Given the description of an element on the screen output the (x, y) to click on. 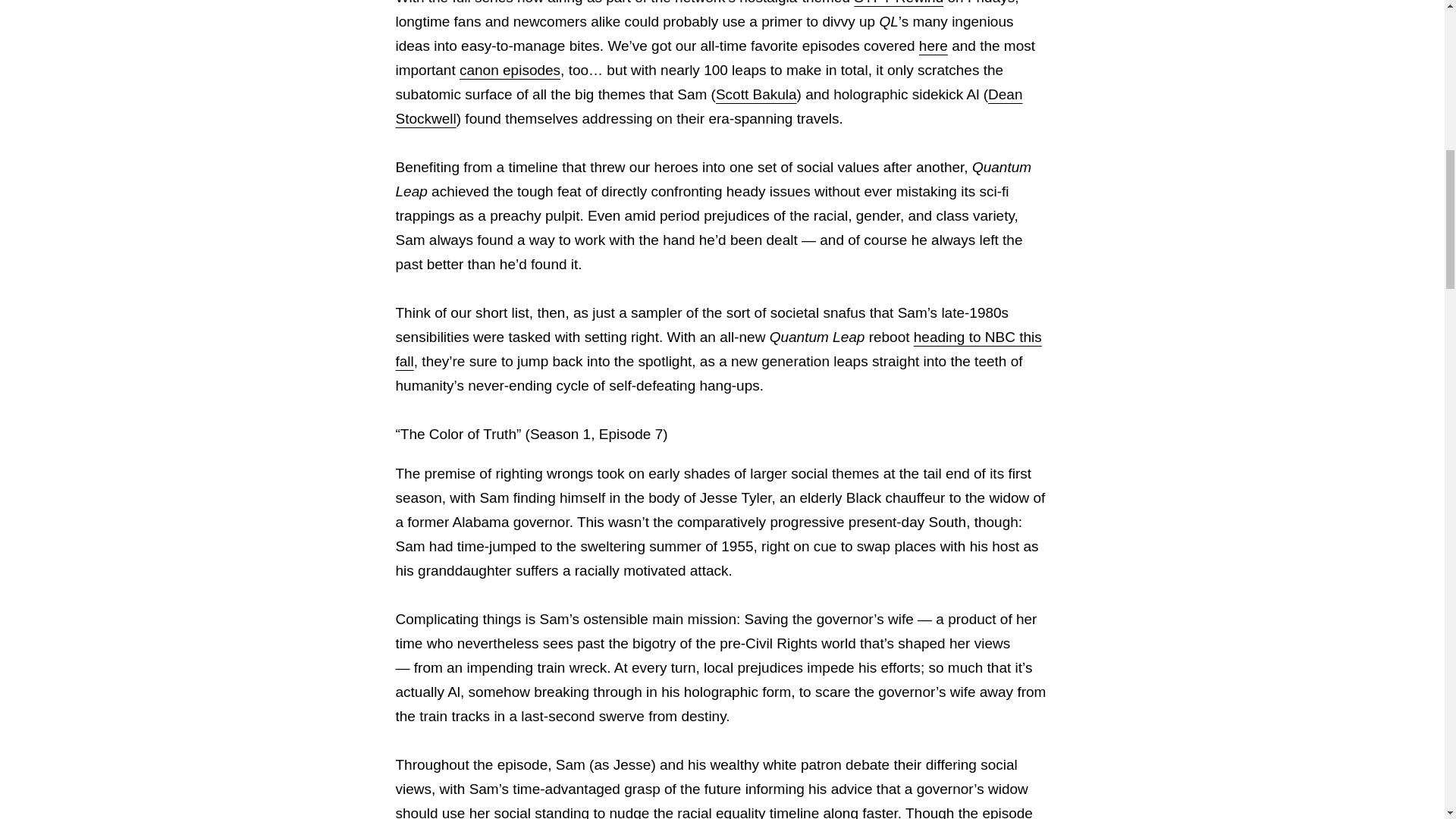
SYFY Rewind (898, 2)
heading to NBC this fall (719, 349)
Scott Bakula (756, 94)
Dean Stockwell (709, 106)
here (932, 45)
canon episodes (510, 69)
